Given the description of an element on the screen output the (x, y) to click on. 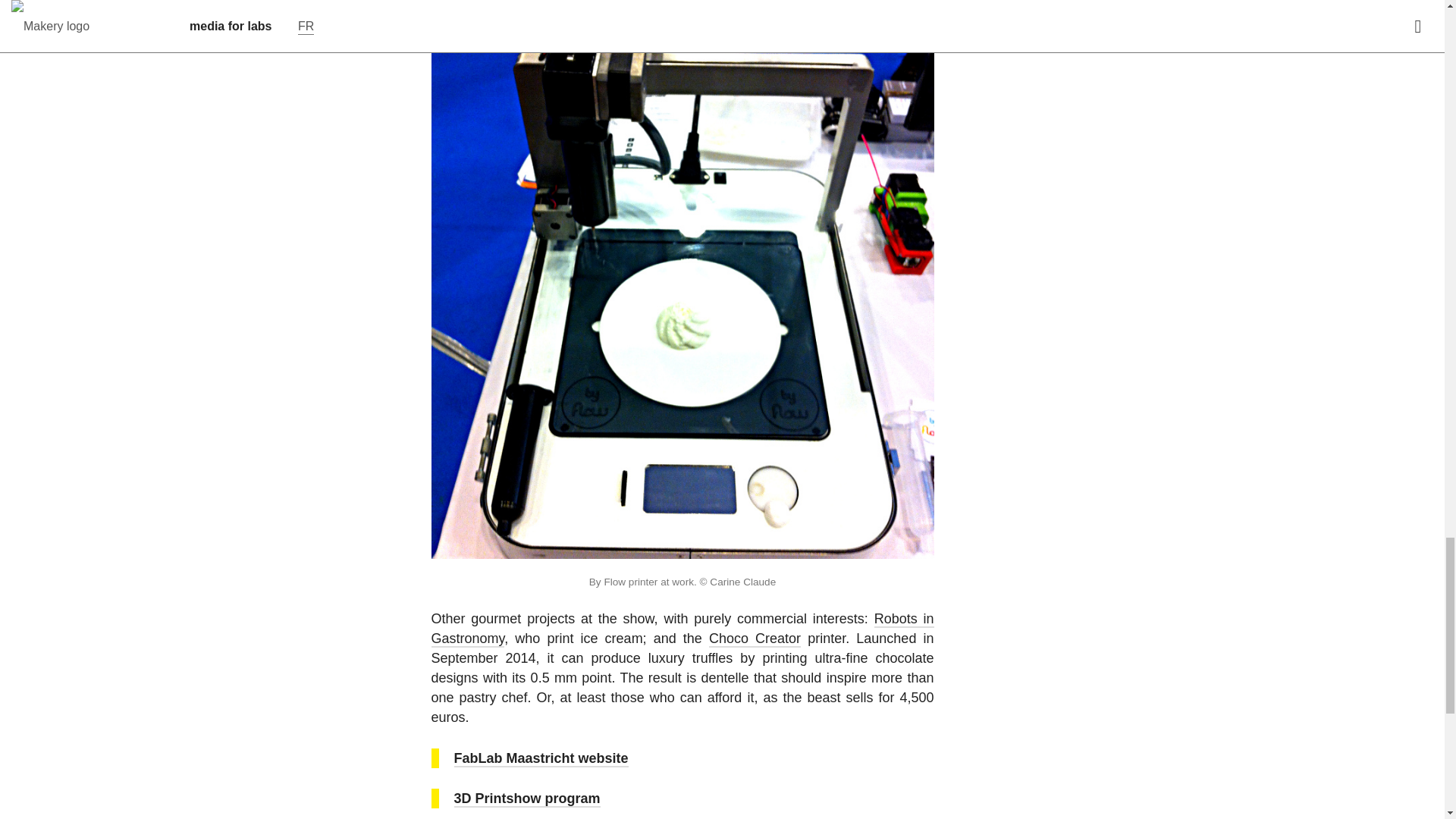
FabLab Maastricht website (539, 759)
Choco Creator (754, 638)
Robots in Gastronomy (681, 628)
3D Printshow program (525, 799)
